Given the description of an element on the screen output the (x, y) to click on. 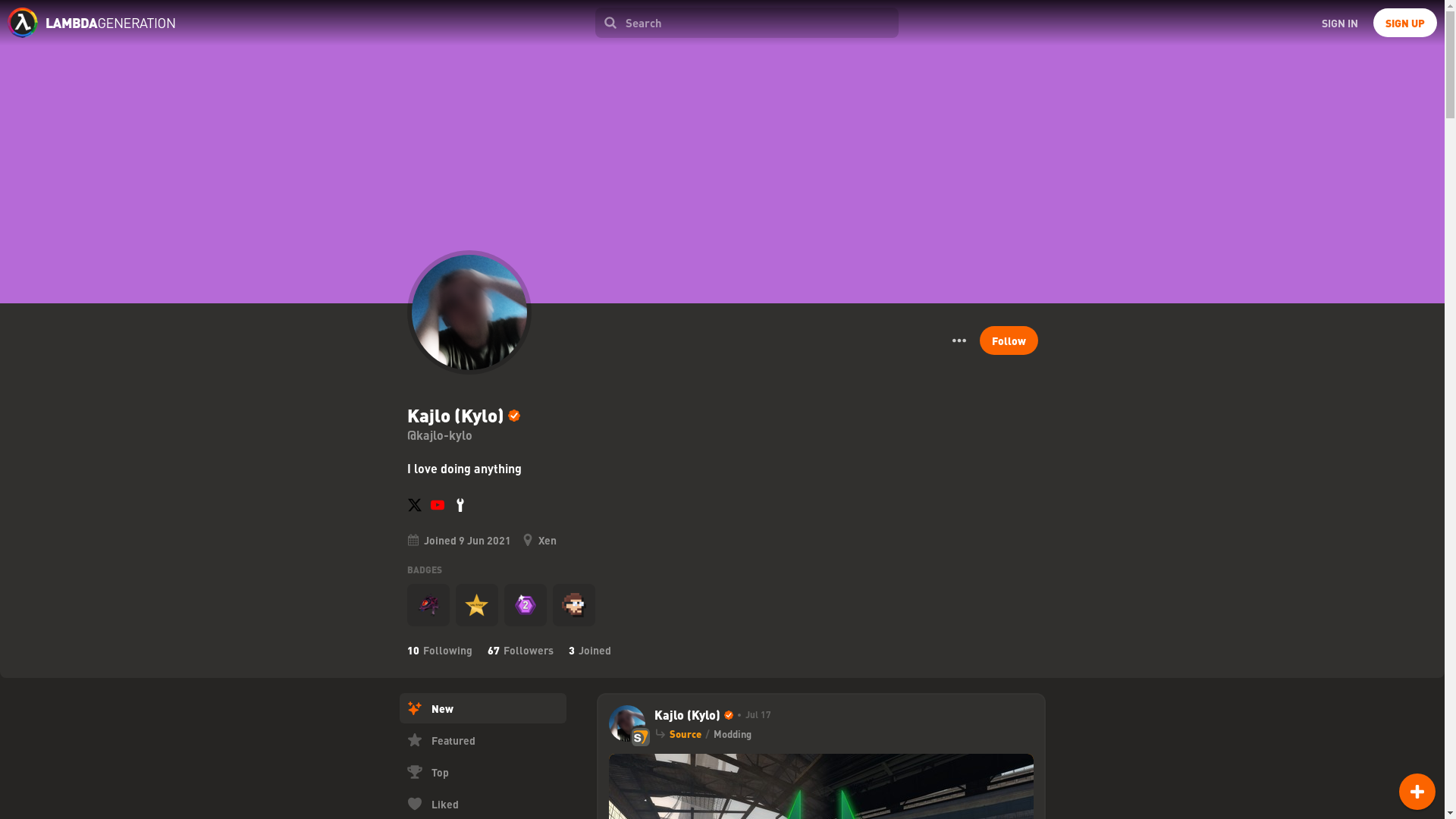
SIGN IN (1339, 22)
Twitter (413, 505)
ModDB (458, 505)
3 Joined (590, 649)
Featured (482, 739)
10 Following (438, 649)
Liked (482, 803)
Source (684, 734)
Jul 17 (751, 714)
Top (482, 771)
